Given the description of an element on the screen output the (x, y) to click on. 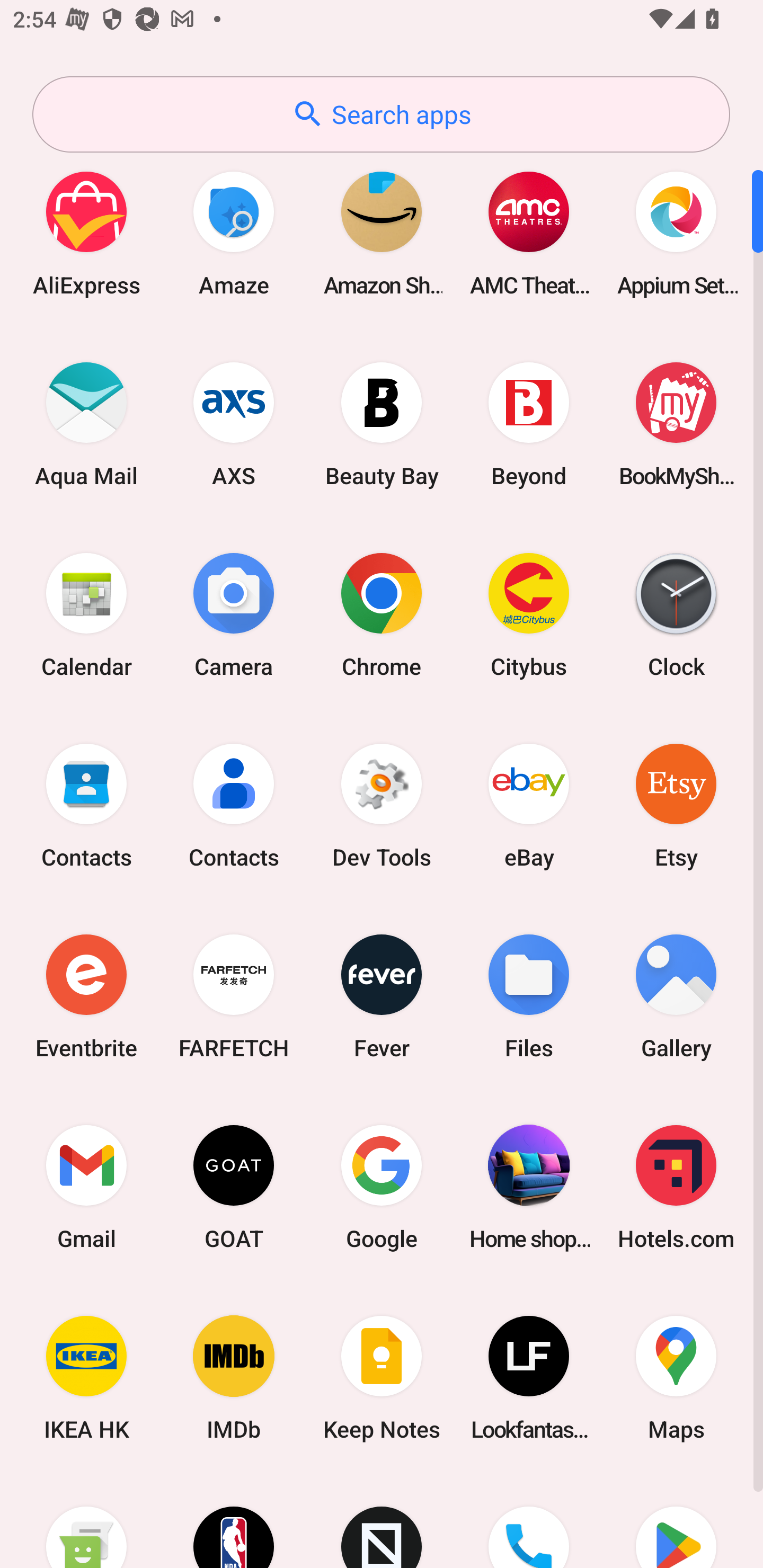
  Search apps (381, 114)
AliExpress (86, 233)
Amaze (233, 233)
Amazon Shopping (381, 233)
AMC Theatres (528, 233)
Appium Settings (676, 233)
Aqua Mail (86, 424)
AXS (233, 424)
Beauty Bay (381, 424)
Beyond (528, 424)
BookMyShow (676, 424)
Calendar (86, 614)
Camera (233, 614)
Chrome (381, 614)
Citybus (528, 614)
Clock (676, 614)
Contacts (86, 805)
Contacts (233, 805)
Dev Tools (381, 805)
eBay (528, 805)
Etsy (676, 805)
Eventbrite (86, 996)
FARFETCH (233, 996)
Fever (381, 996)
Files (528, 996)
Gallery (676, 996)
Gmail (86, 1186)
GOAT (233, 1186)
Google (381, 1186)
Home shopping (528, 1186)
Hotels.com (676, 1186)
IKEA HK (86, 1377)
IMDb (233, 1377)
Keep Notes (381, 1377)
Lookfantastic (528, 1377)
Maps (676, 1377)
Messaging (86, 1520)
NBA (233, 1520)
Novelship (381, 1520)
Phone (528, 1520)
Play Store (676, 1520)
